Given the description of an element on the screen output the (x, y) to click on. 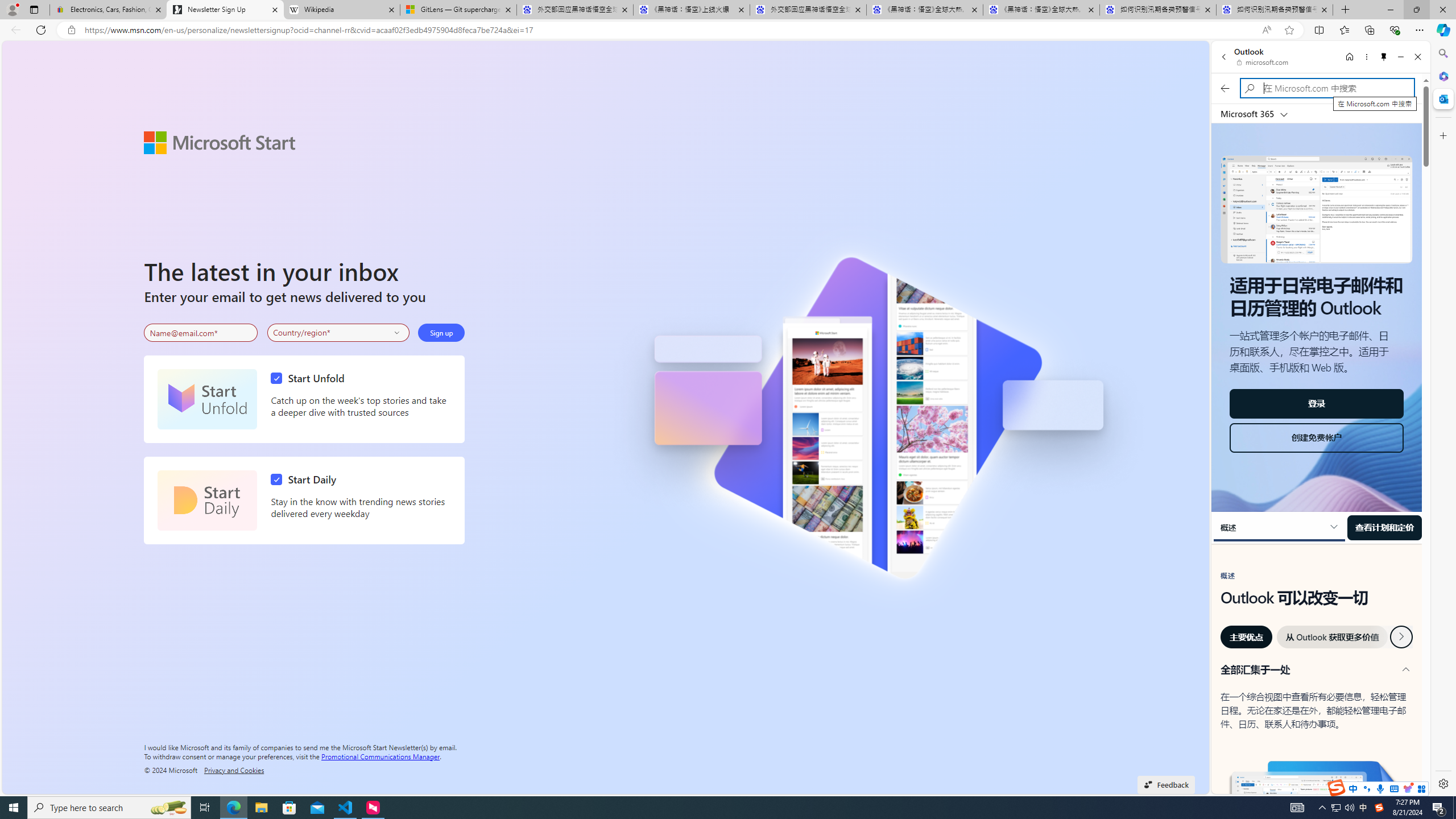
Start Unfold (310, 378)
